Given the description of an element on the screen output the (x, y) to click on. 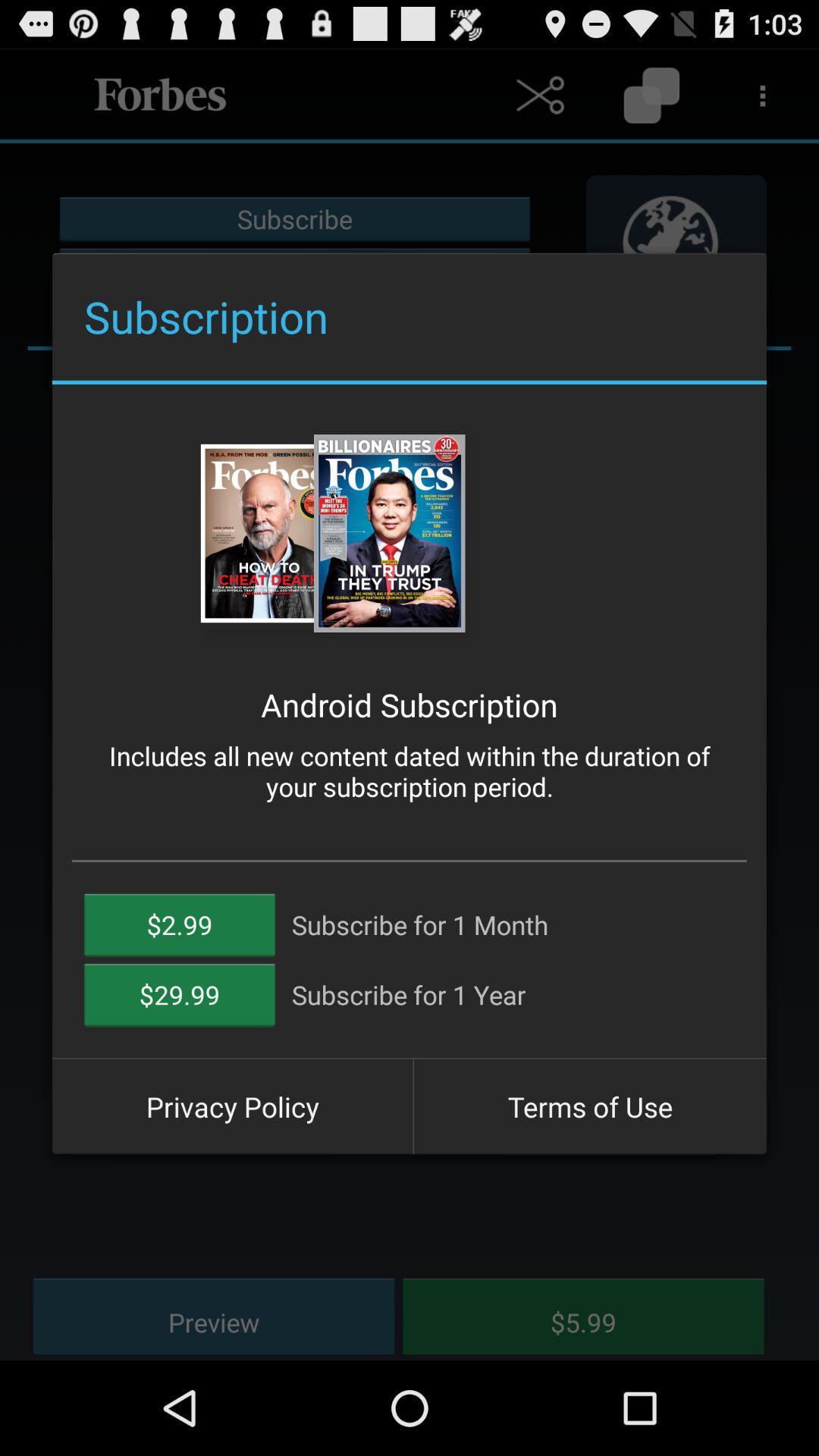
select the icon at the bottom right corner (590, 1106)
